Given the description of an element on the screen output the (x, y) to click on. 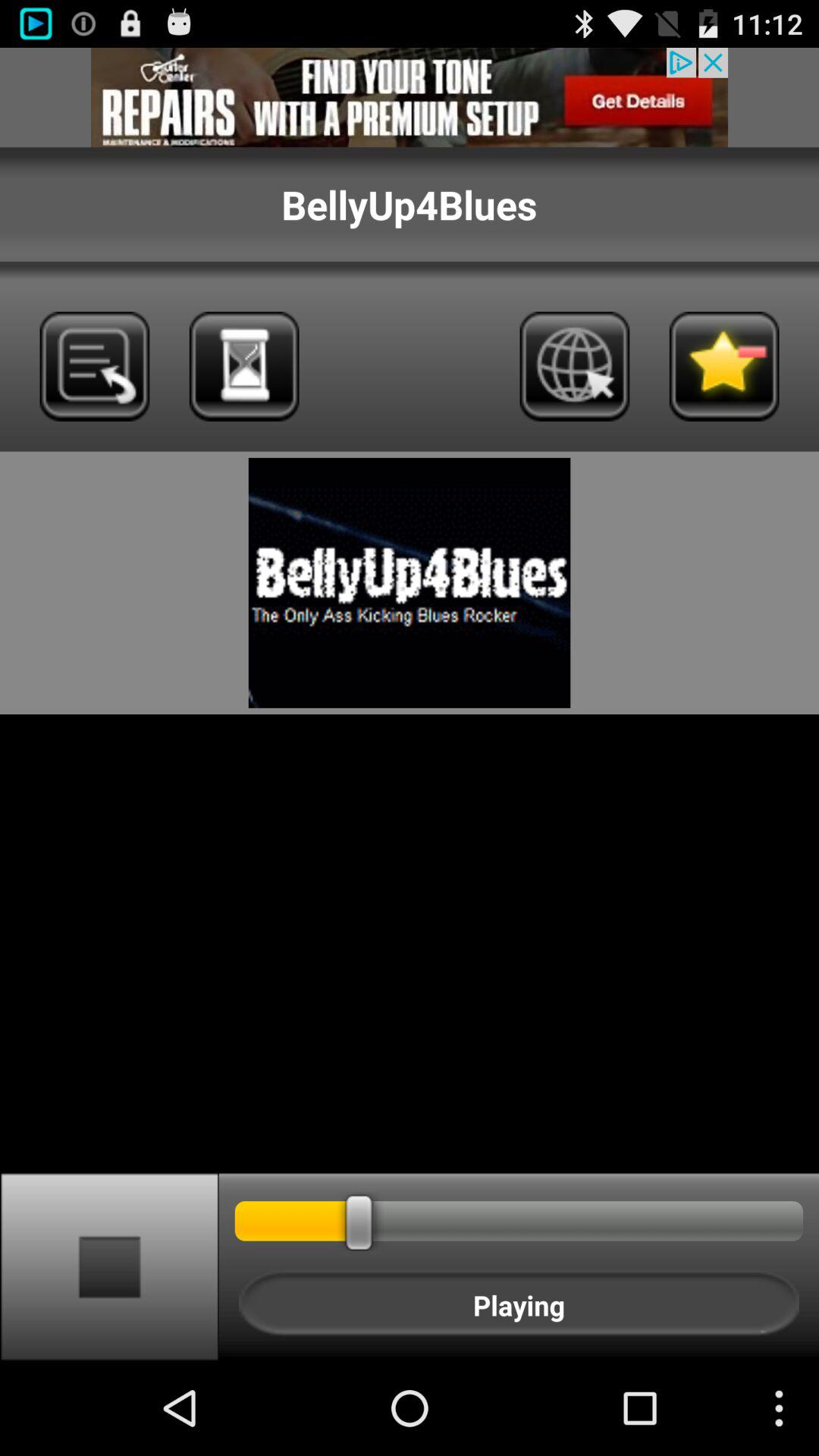
stop playing (109, 1266)
